Given the description of an element on the screen output the (x, y) to click on. 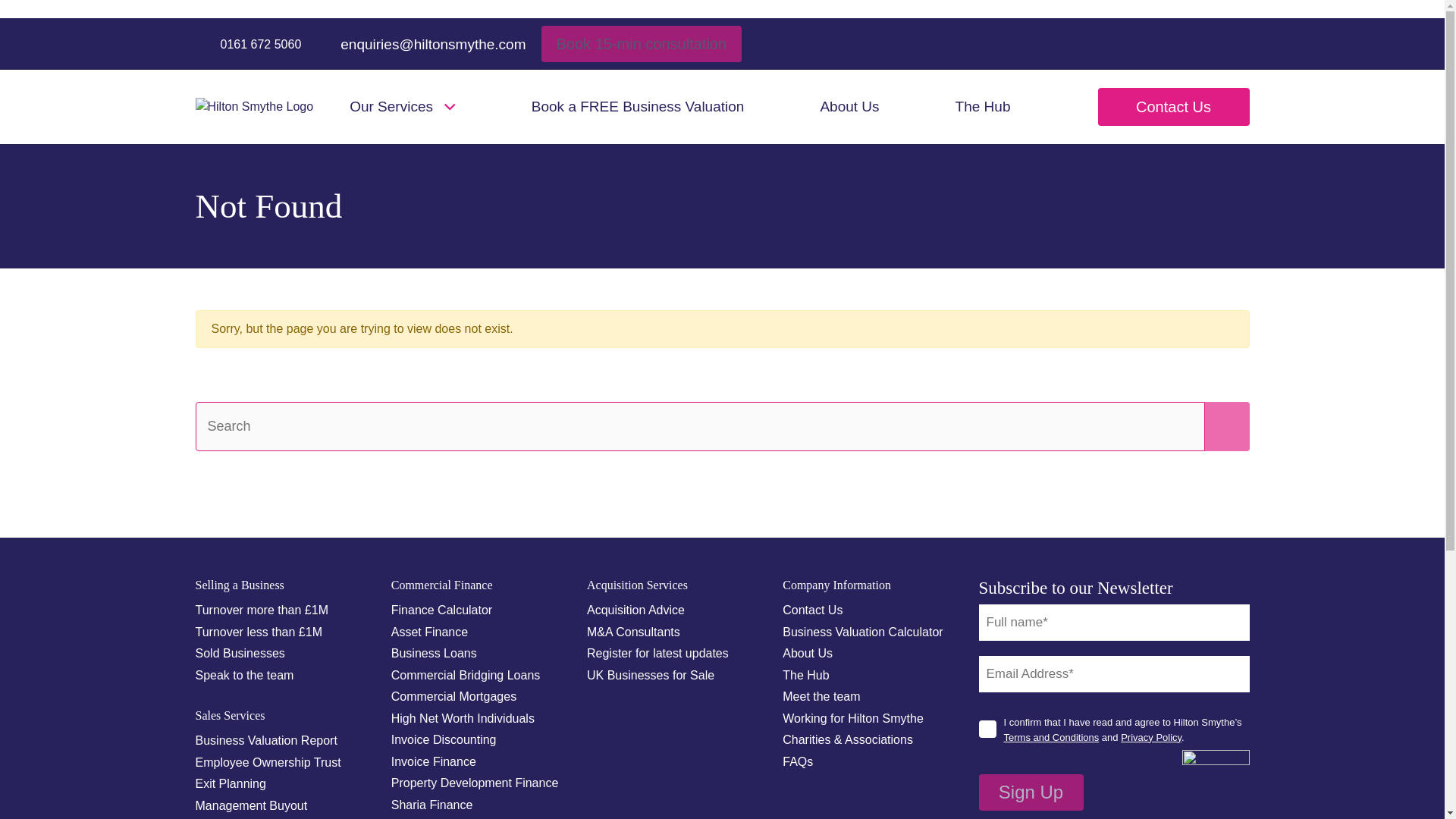
Book 15-min consultation (641, 43)
Sign Up (1030, 791)
Contact Us (1173, 106)
About Us (849, 106)
1 (986, 728)
0161 672 5060 (248, 43)
Book a FREE Business Valuation (637, 106)
Our Services (402, 106)
The Hub (982, 106)
